Given the description of an element on the screen output the (x, y) to click on. 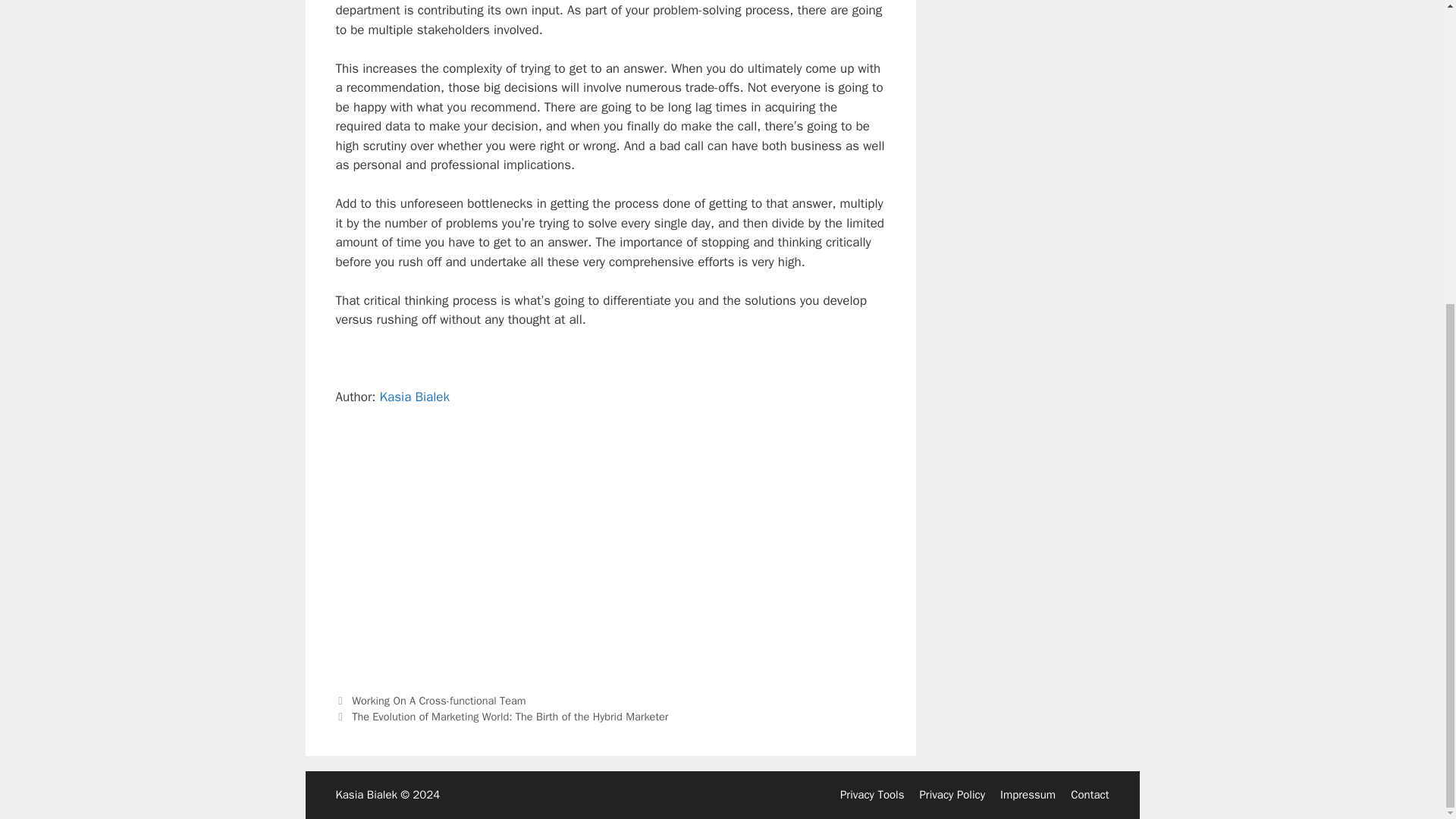
Impressum (1027, 794)
Privacy Tools (872, 794)
Kasia Bialek (414, 396)
Contact (1089, 794)
Privacy Policy (951, 794)
Working On A Cross-functional Team (438, 700)
